Given the description of an element on the screen output the (x, y) to click on. 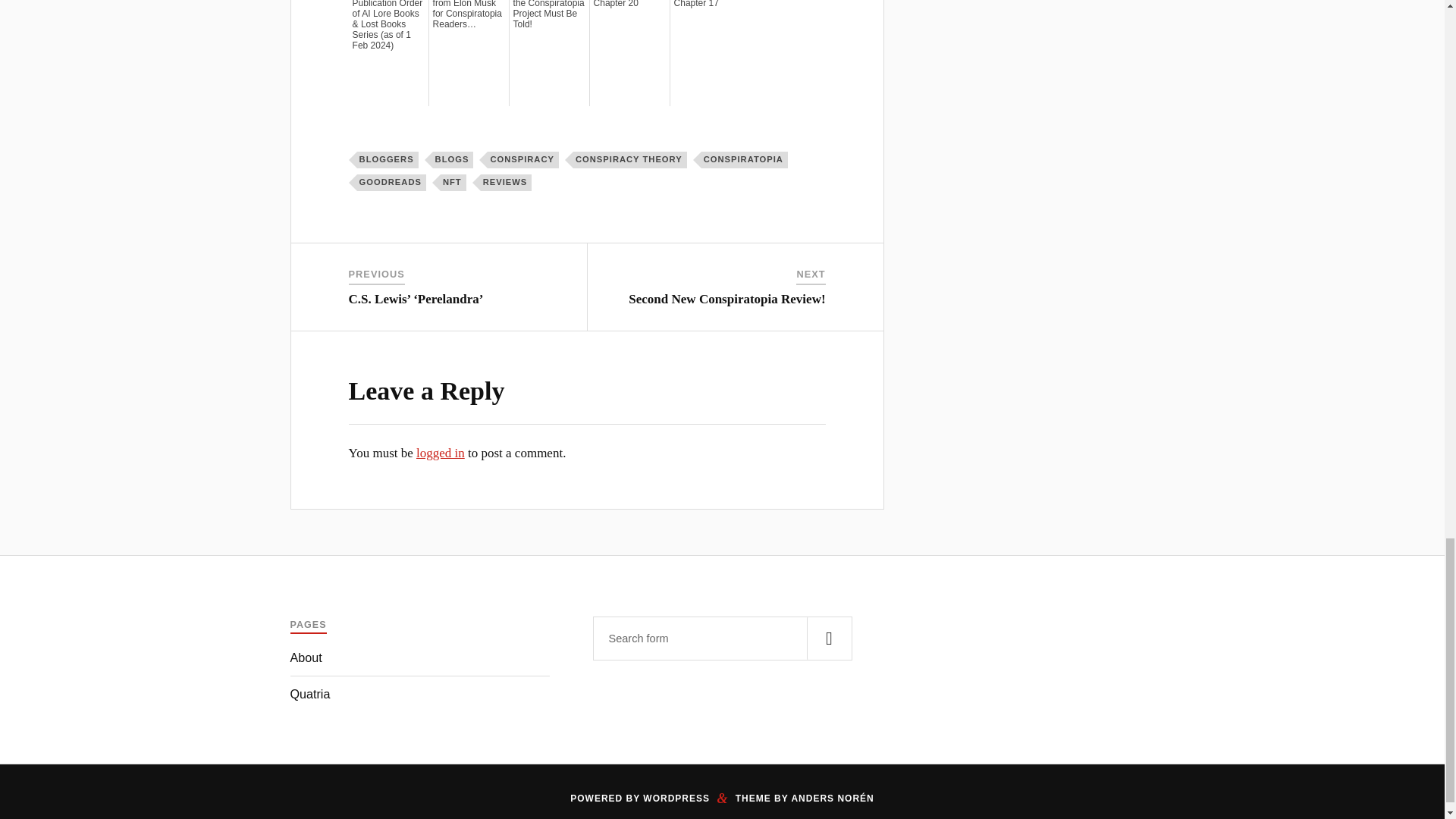
CONSPIRACY THEORY (630, 159)
Conspiratopia: Chapter 20 (629, 4)
BLOGGERS (387, 159)
BLOGS (453, 159)
The Truth About the Conspiratopia Project Must Be Told! (549, 14)
Conspiratopia: Chapter 17 (710, 4)
CONSPIRACY (523, 159)
